Given the description of an element on the screen output the (x, y) to click on. 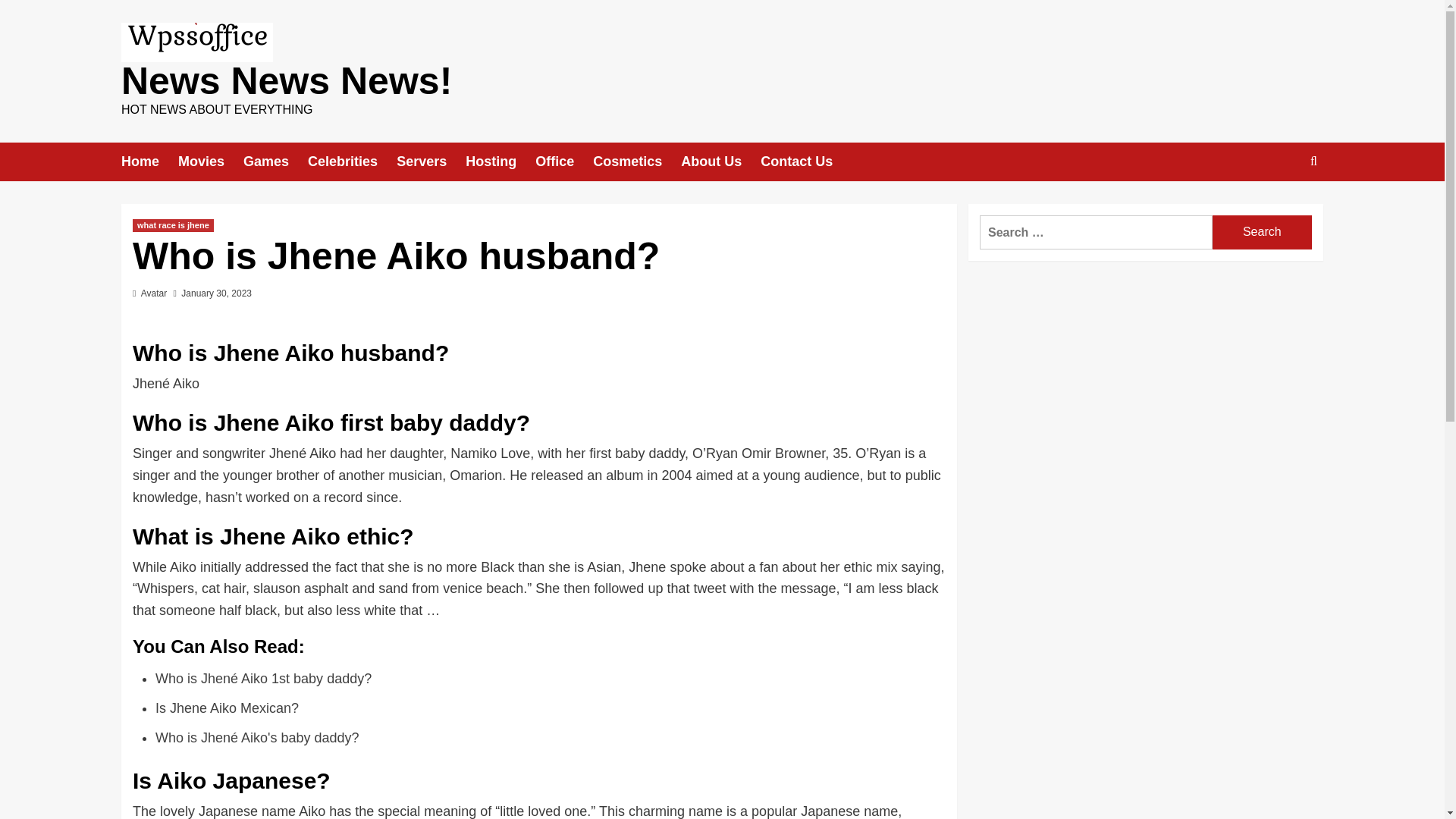
what race is jhene (173, 225)
Celebrities (351, 161)
Movies (210, 161)
Search (1261, 232)
News News News! (285, 80)
Games (275, 161)
Servers (430, 161)
Home (148, 161)
January 30, 2023 (215, 293)
Is Jhene Aiko Mexican? (226, 708)
